Given the description of an element on the screen output the (x, y) to click on. 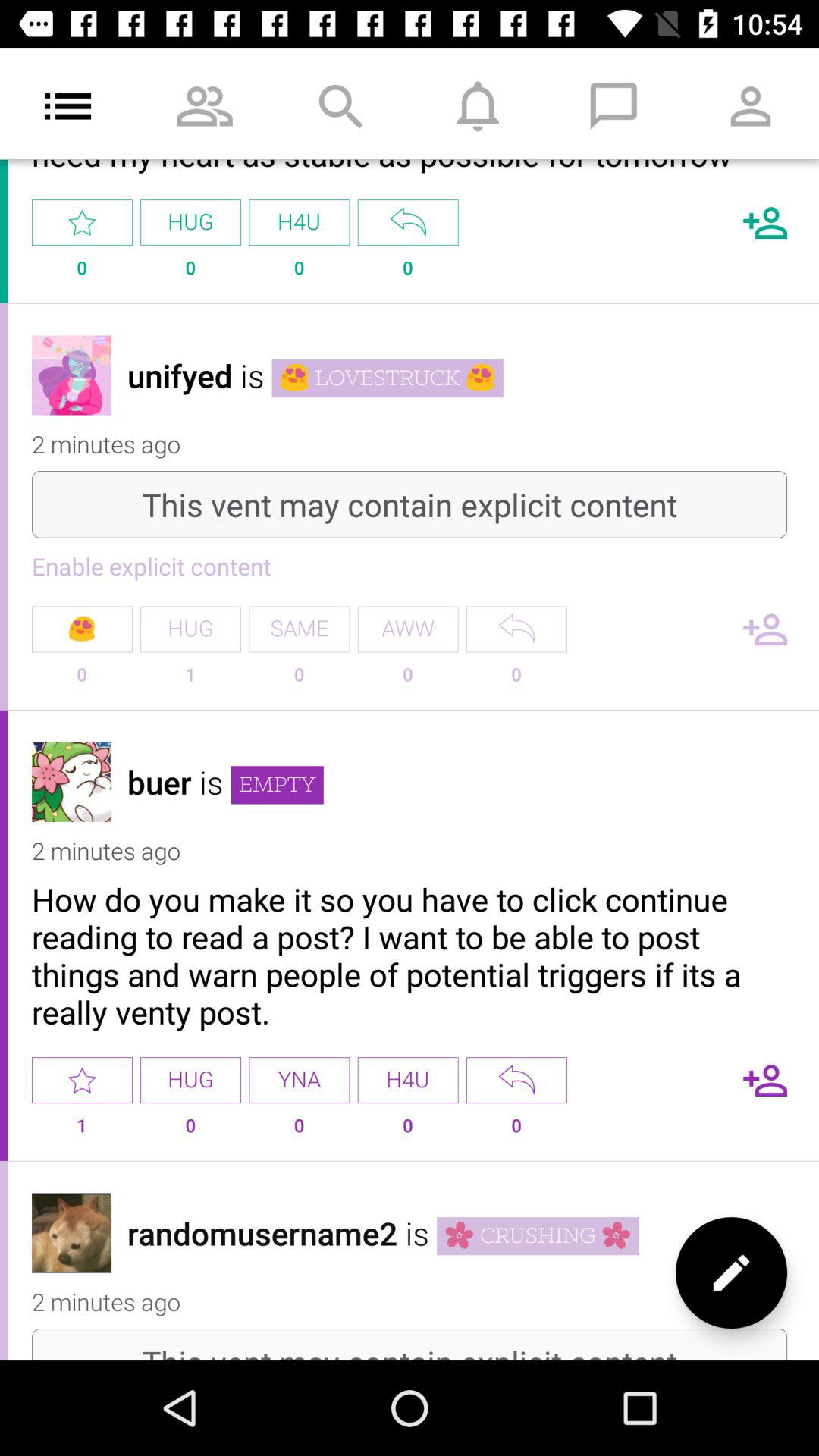
reply to post (516, 629)
